Given the description of an element on the screen output the (x, y) to click on. 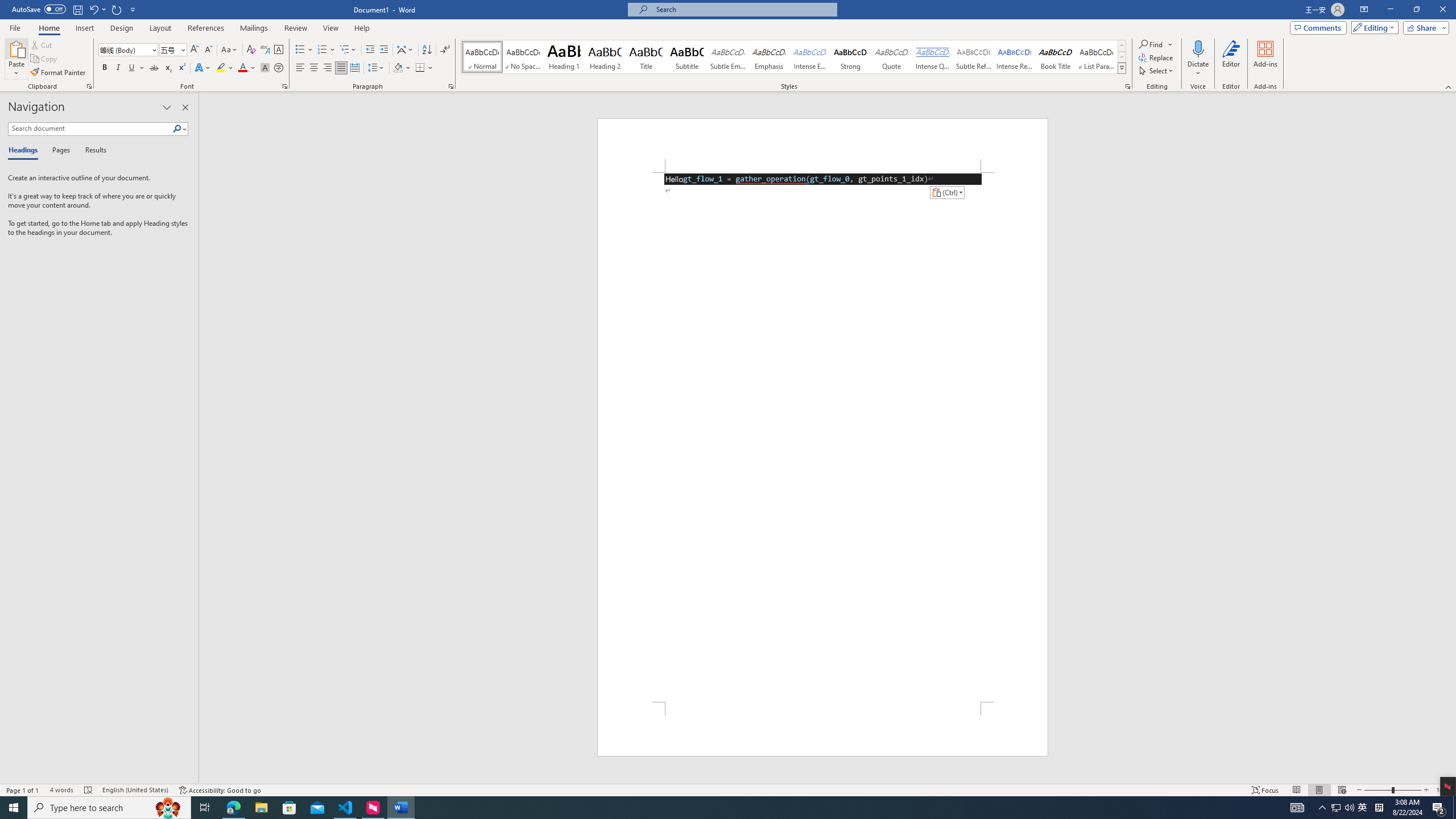
Intense Quote (932, 56)
Strong (849, 56)
Action: Paste alternatives (946, 192)
